Given the description of an element on the screen output the (x, y) to click on. 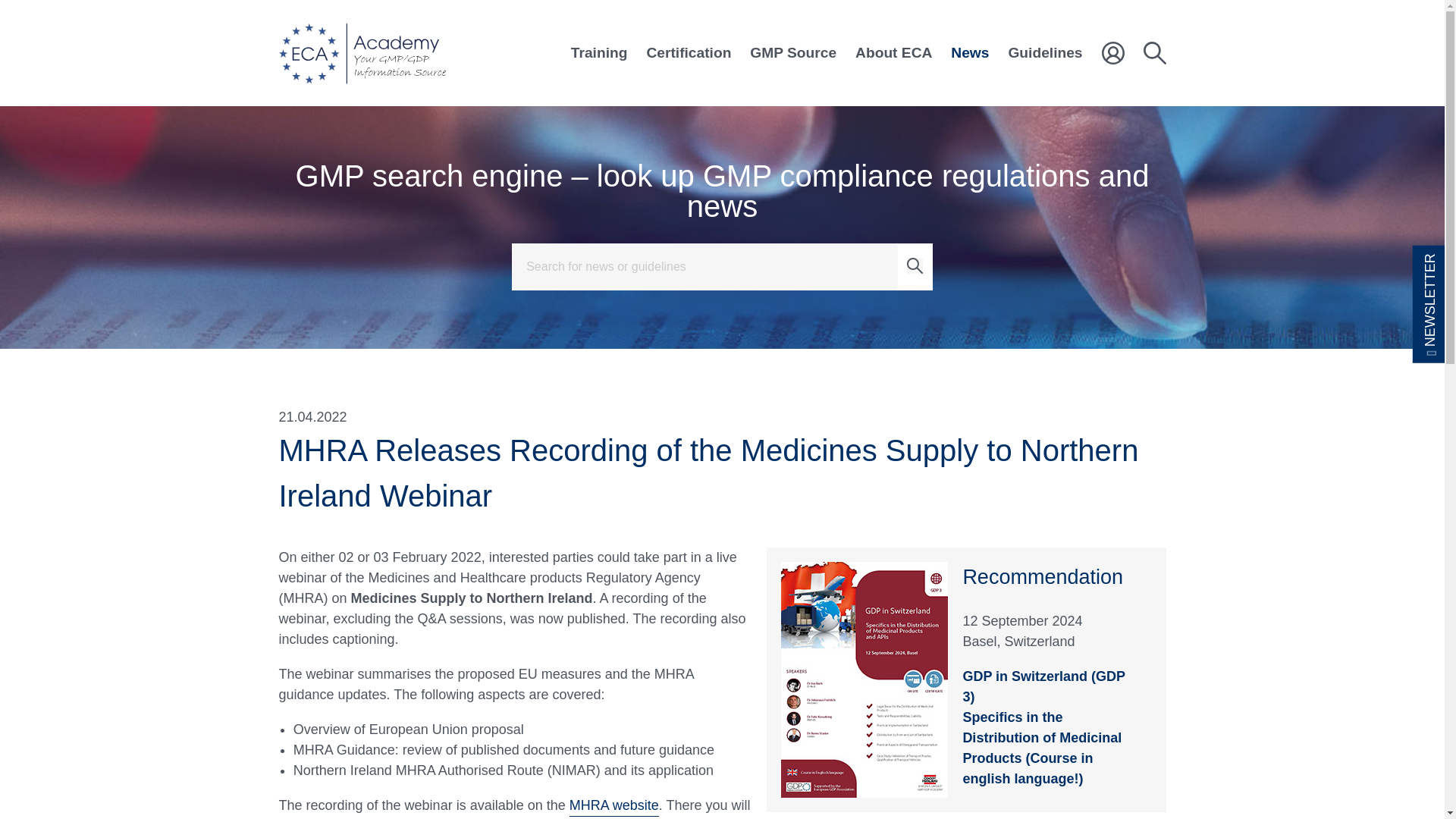
ECA Academy - ECA Academy (362, 53)
